Given the description of an element on the screen output the (x, y) to click on. 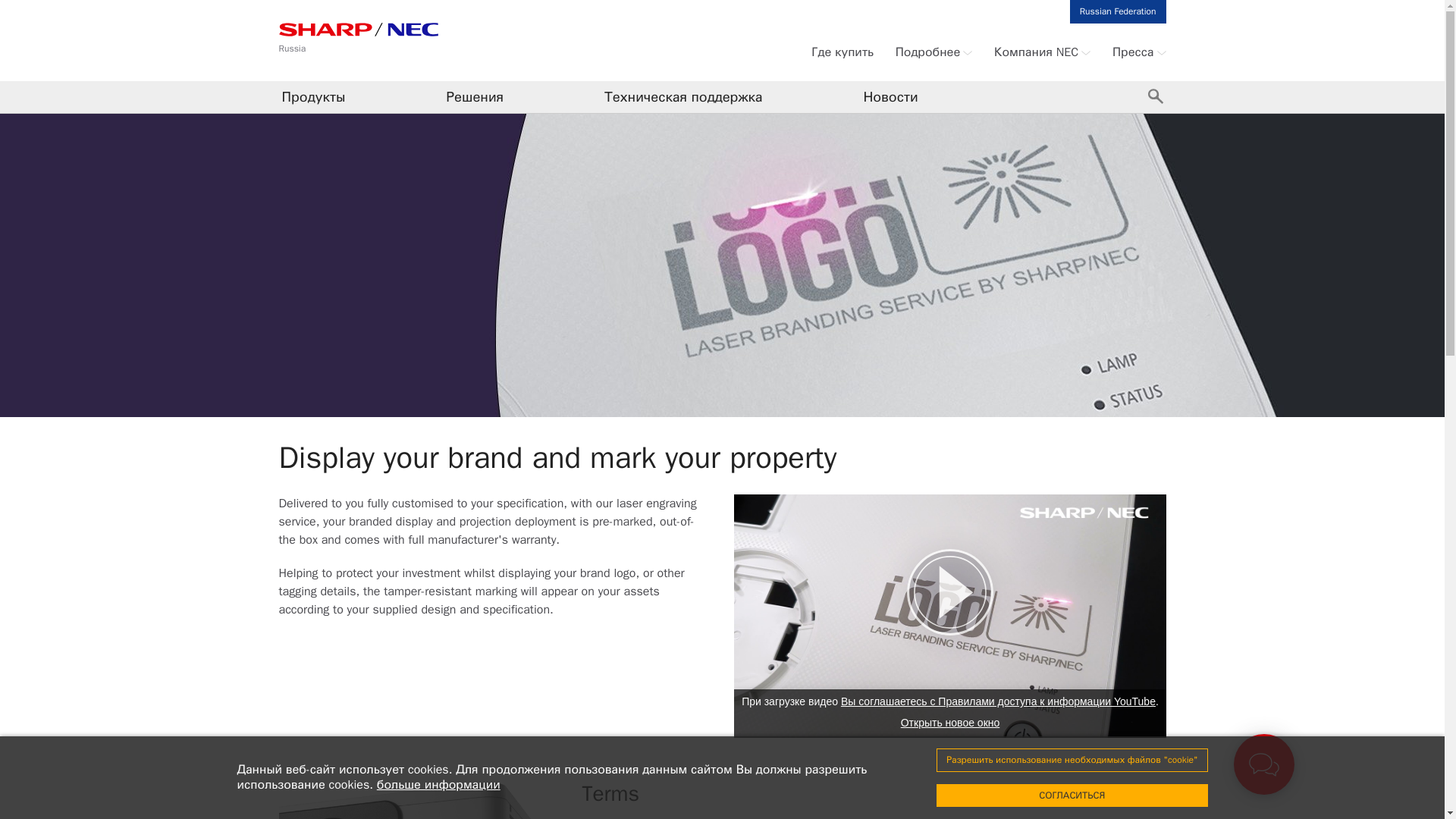
Contact us today (1263, 763)
